Given the description of an element on the screen output the (x, y) to click on. 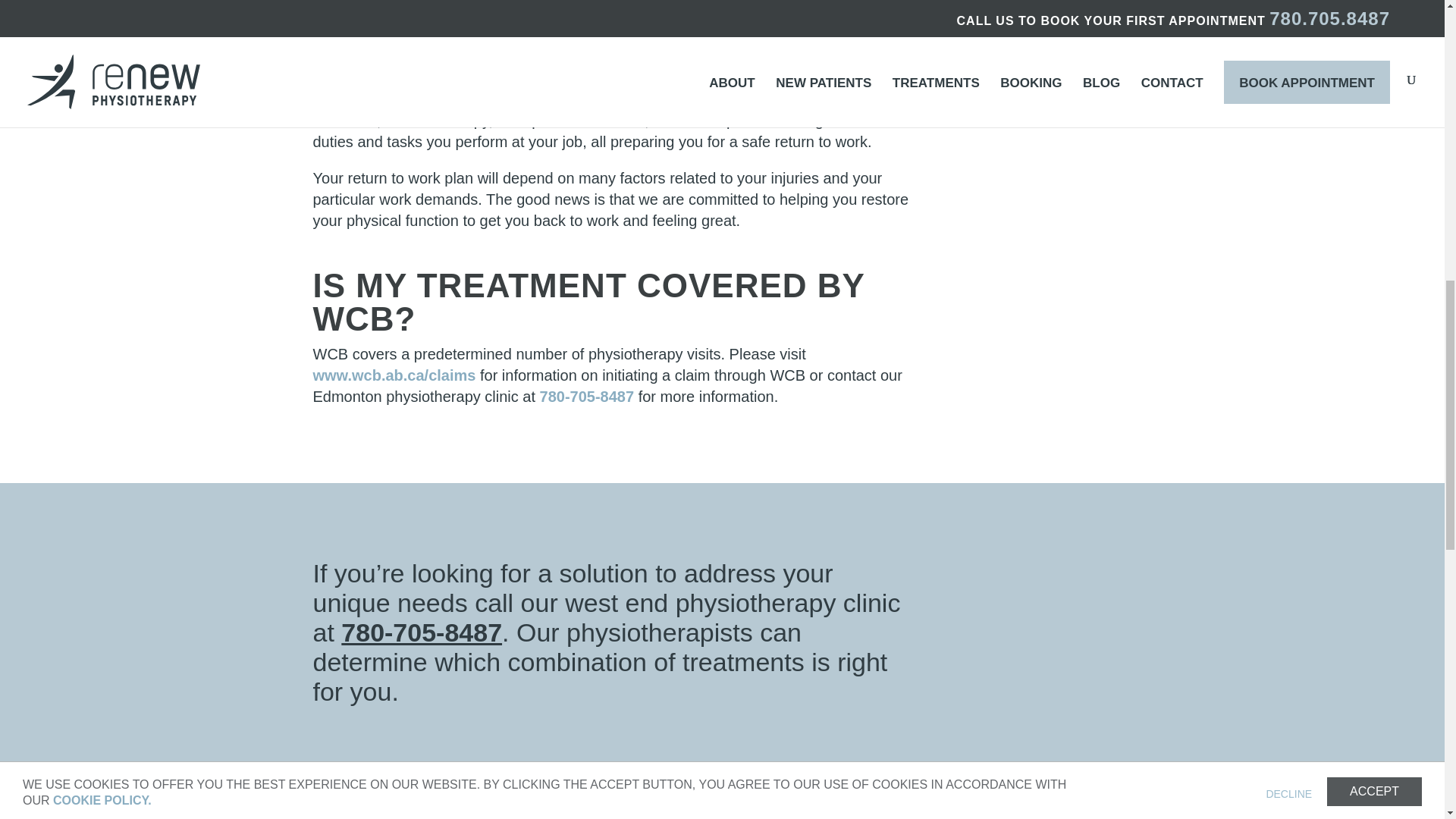
780-705-8487 (587, 396)
WCB (394, 375)
780-705-8487 (421, 632)
780-705-8487 (587, 396)
